Given the description of an element on the screen output the (x, y) to click on. 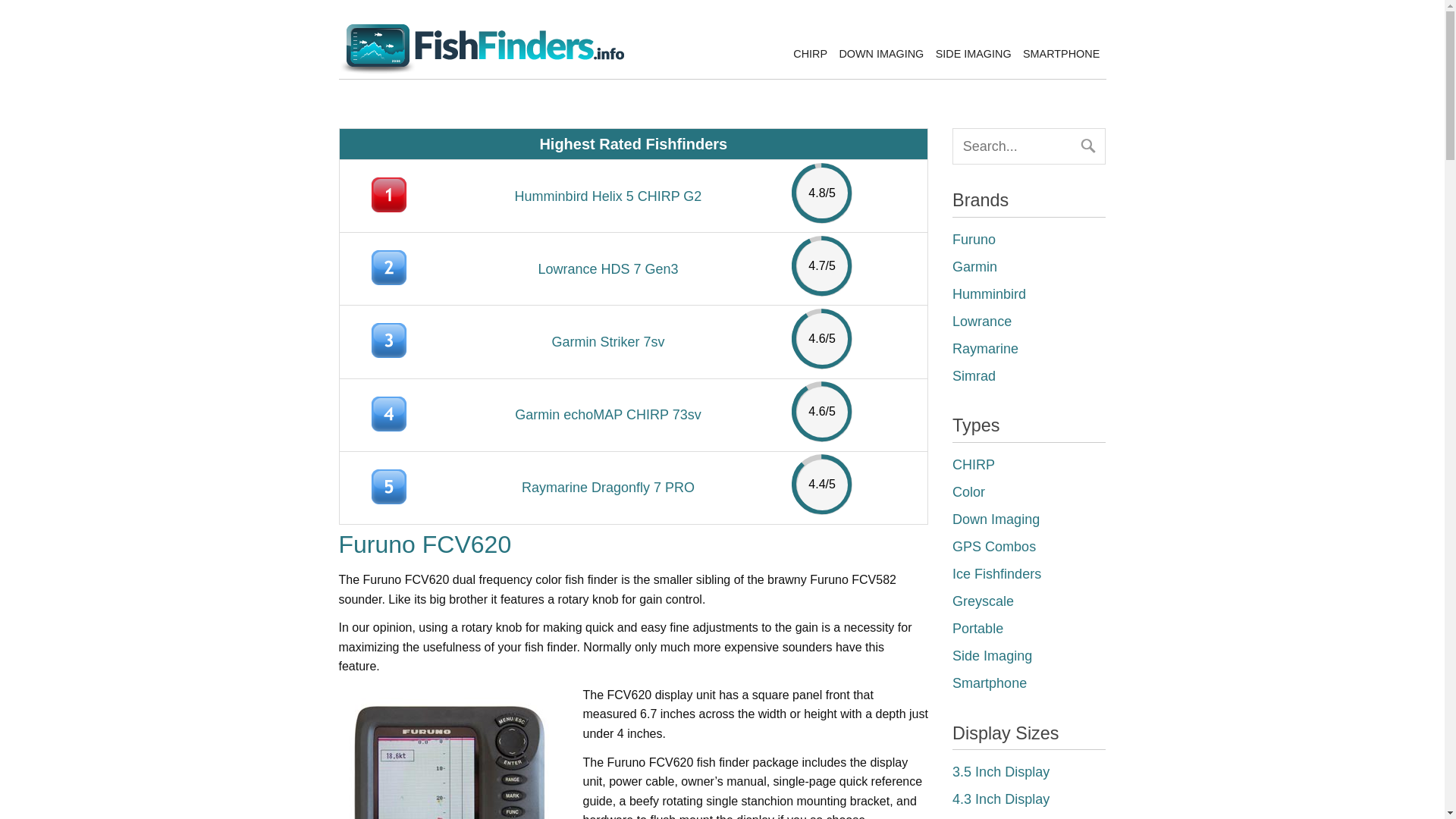
Simrad (973, 376)
GPS Combos (993, 546)
Humminbird Helix 5 CHIRP G2 (608, 196)
Humminbird (989, 294)
Raymarine Dragonfly 7 PRO (607, 487)
CHIRP (809, 53)
FishFinders.info (480, 72)
Ice Fishfinders (996, 573)
Garmin Striker 7sv (607, 341)
Raymarine (984, 348)
Side Imaging (992, 655)
Down Imaging (995, 519)
Lowrance (981, 321)
Garmin (974, 266)
Lowrance HDS 7 Gen3 (607, 268)
